Given the description of an element on the screen output the (x, y) to click on. 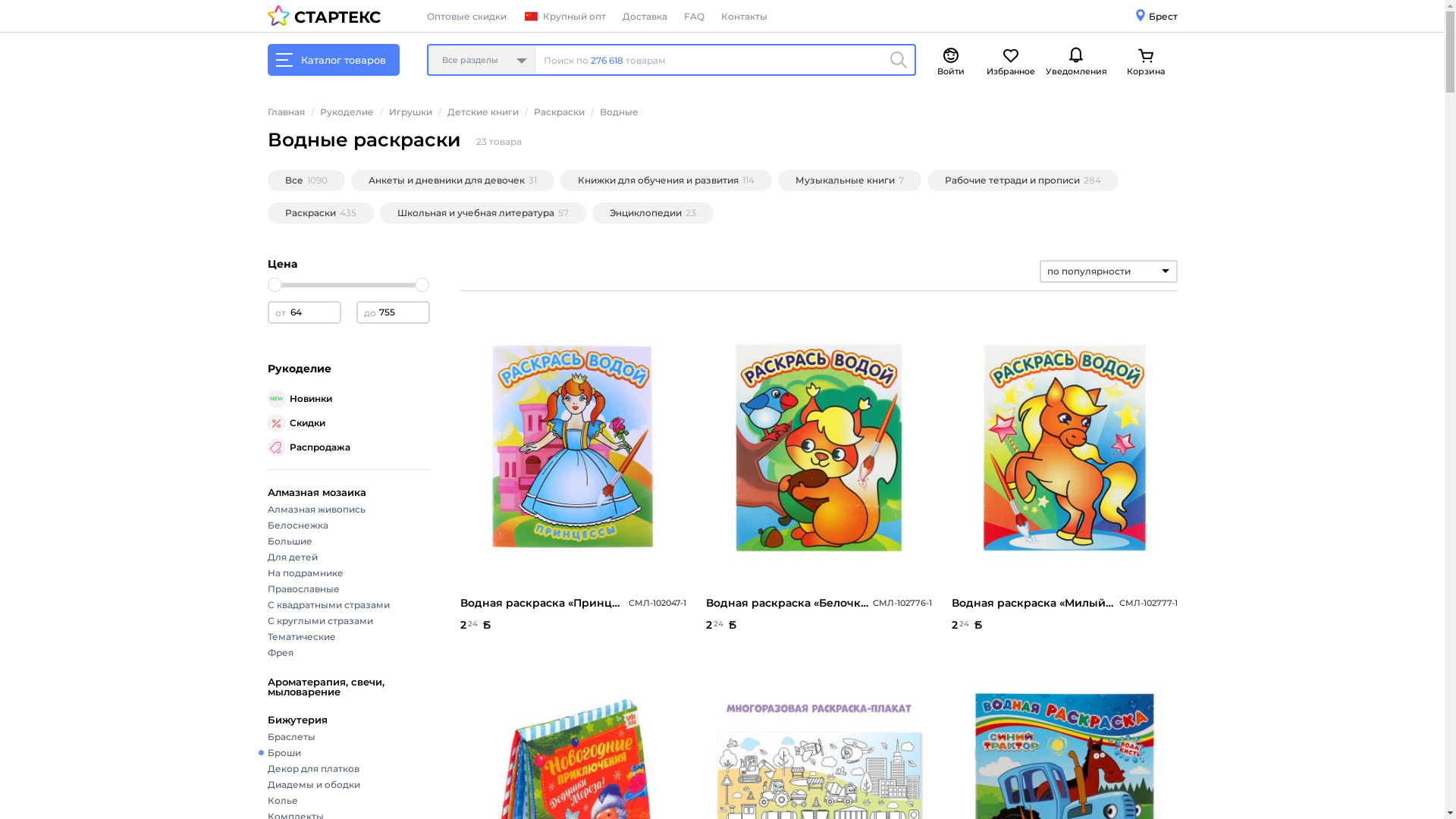
FAQ Element type: text (694, 15)
